Given the description of an element on the screen output the (x, y) to click on. 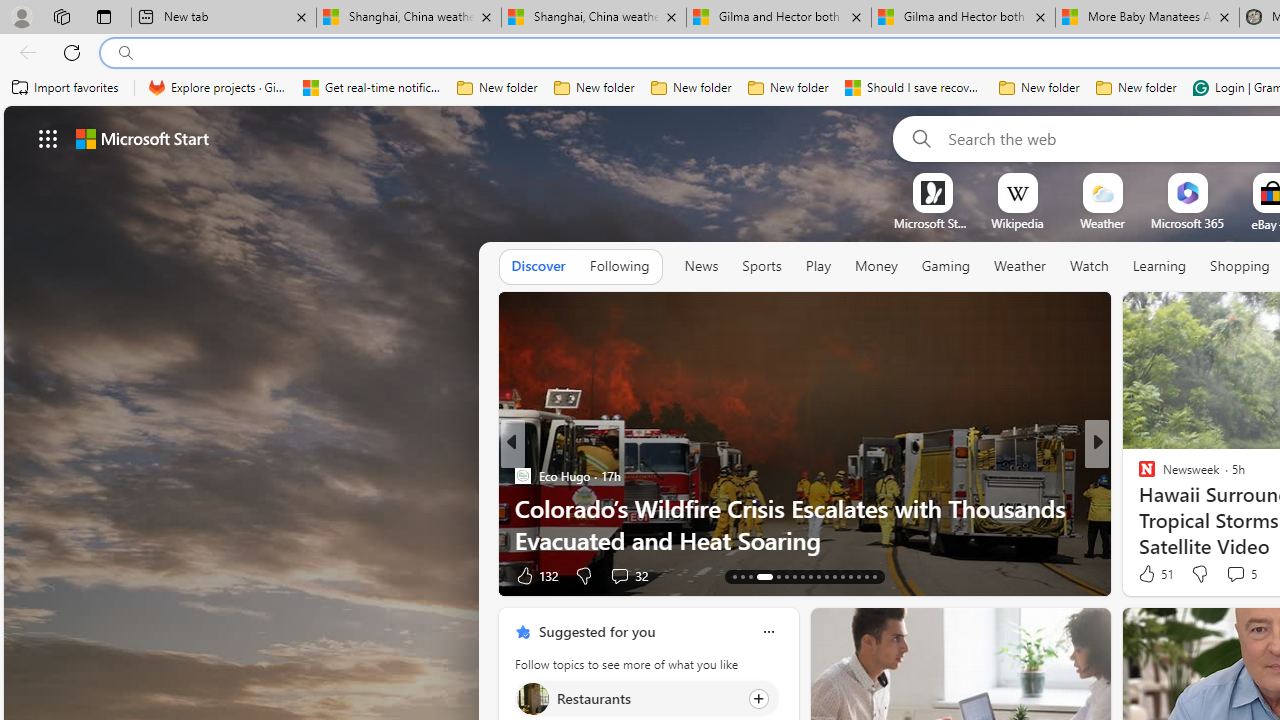
AutomationID: tab-18 (742, 576)
Play (817, 265)
View comments 1k Comment (612, 575)
51 Like (1154, 574)
AutomationID: tab-23 (793, 576)
AutomationID: tab-17 (733, 576)
Play (818, 267)
Suggested for you (596, 631)
AutomationID: tab-24 (801, 576)
Should I save recovered Word documents? - Microsoft Support (913, 88)
